Given the description of an element on the screen output the (x, y) to click on. 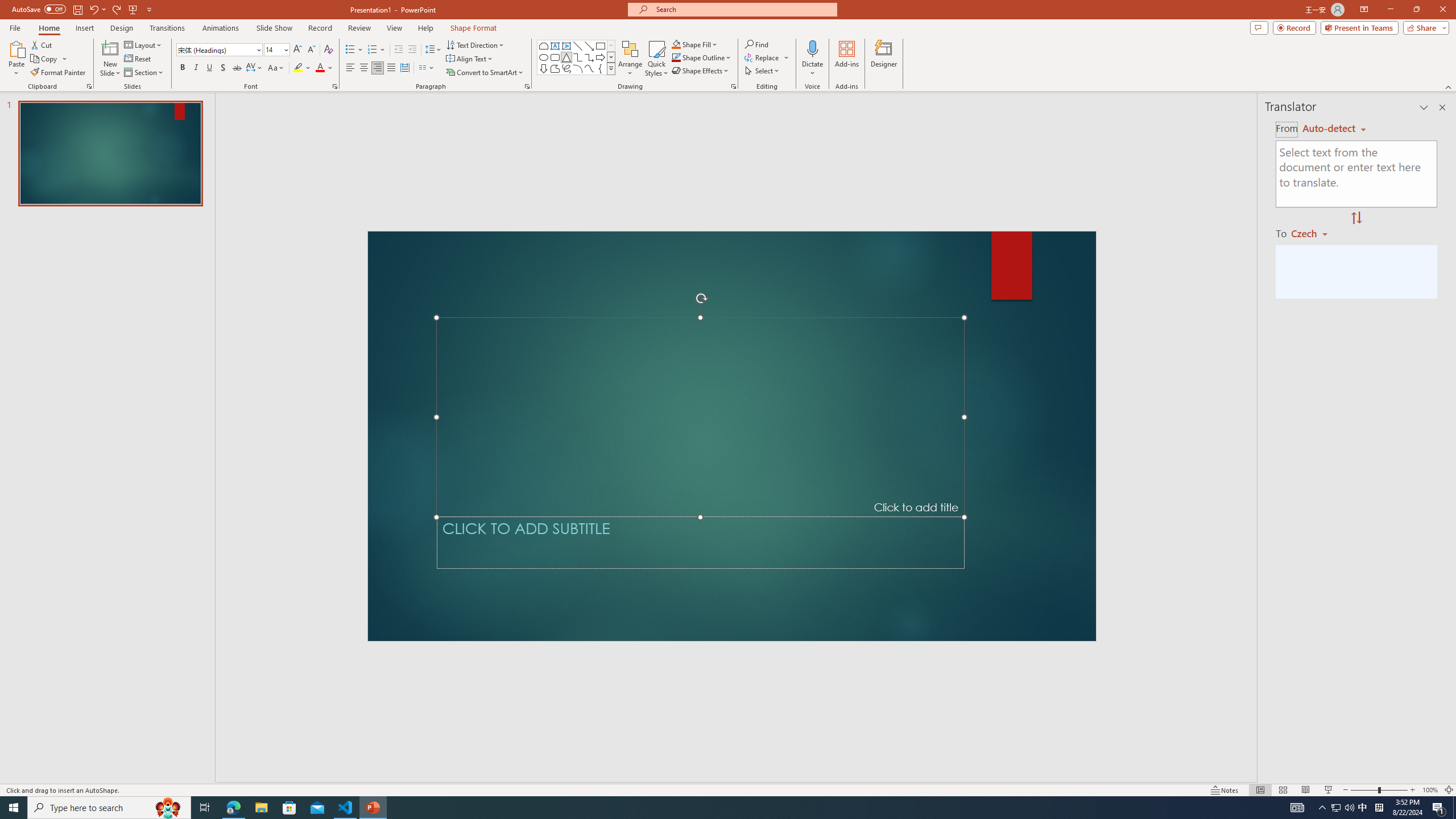
Auto-detect (1334, 128)
